Given the description of an element on the screen output the (x, y) to click on. 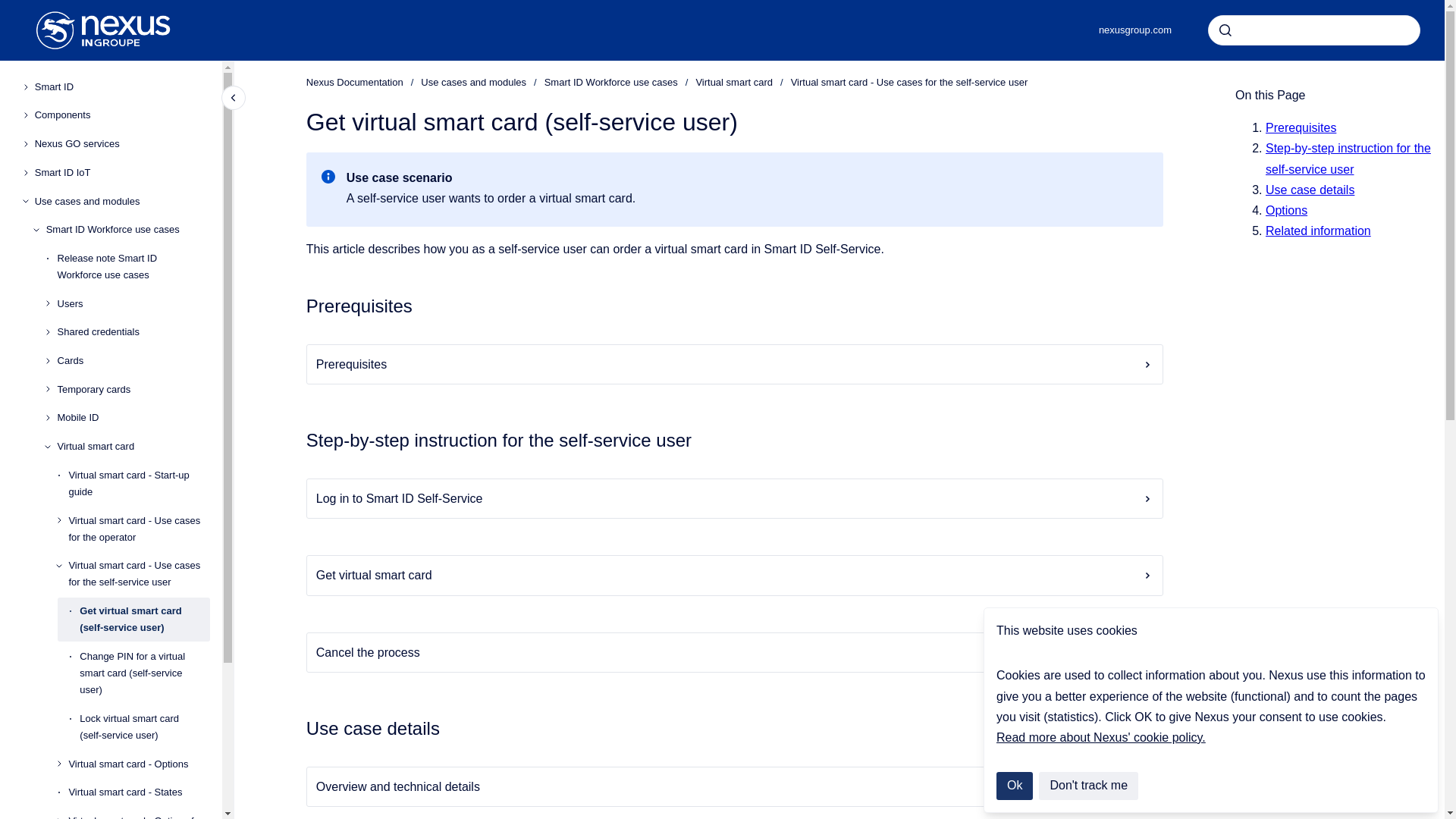
Read more about Nexus' cookie policy. (1100, 737)
Mobile ID (133, 418)
Use cases and modules (121, 201)
Shared credentials (133, 332)
Nexus GO services (121, 144)
Components (121, 115)
Virtual smart card - Use cases for the operator (138, 528)
Smart ID IoT (121, 172)
Virtual smart card (133, 446)
Users (133, 303)
Go to homepage (103, 30)
Don't track me (1088, 786)
Smart ID (121, 86)
Smart ID Workforce use cases (127, 229)
Temporary cards (133, 389)
